Given the description of an element on the screen output the (x, y) to click on. 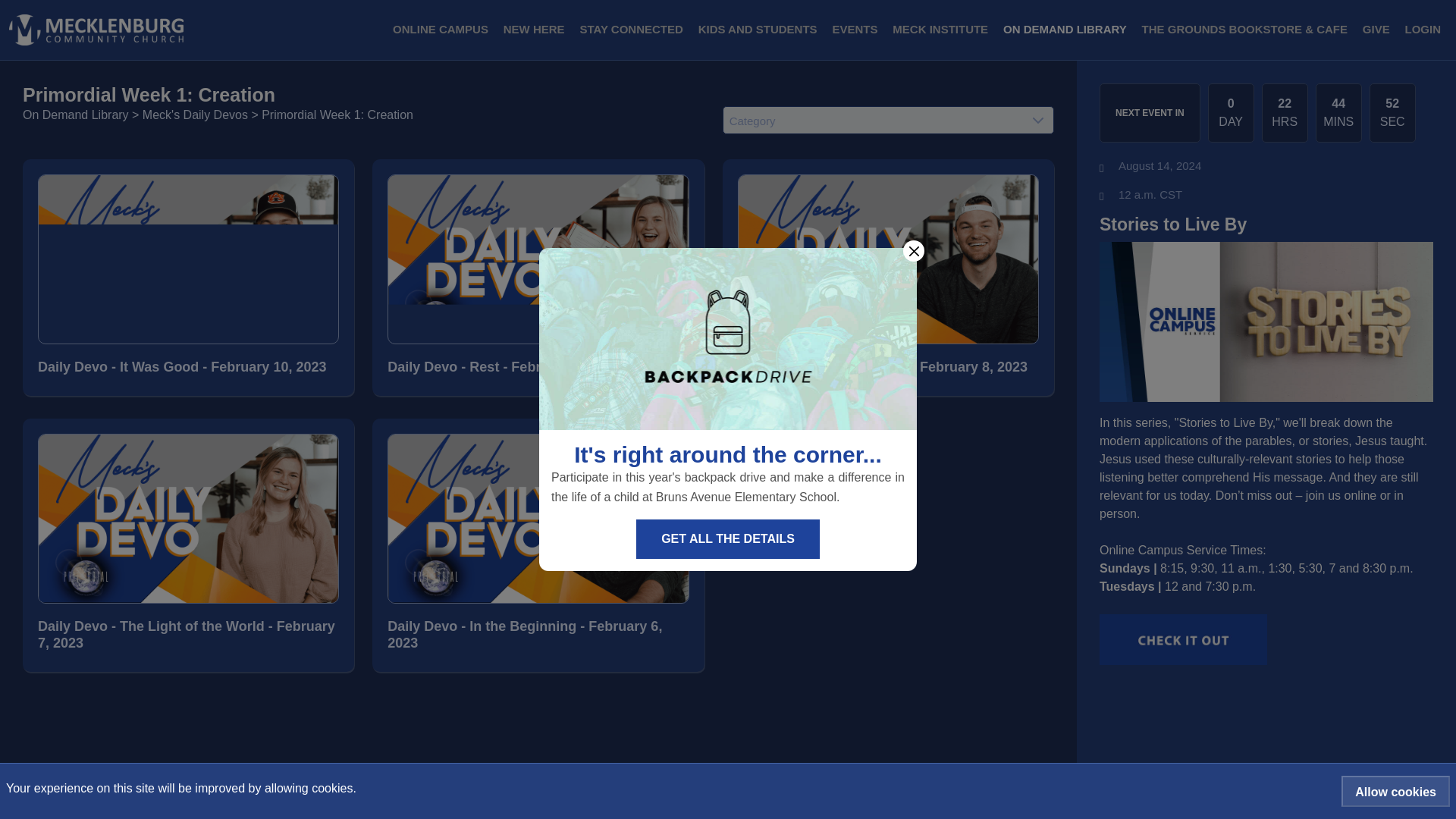
Daily Devo - Just Amazing - February 8, 2023 (888, 367)
Meck's Daily Devos (194, 114)
Stories to Live By (1265, 224)
MECK INSTITUTE (940, 30)
ONLINE CAMPUS (441, 30)
GIVE (1376, 30)
Daily Devo - The Light of the World - February 7, 2023 (188, 635)
Daily Devo - It Was Good - February 10, 2023 (188, 367)
STAY CONNECTED (630, 30)
NEW HERE (533, 30)
